Given the description of an element on the screen output the (x, y) to click on. 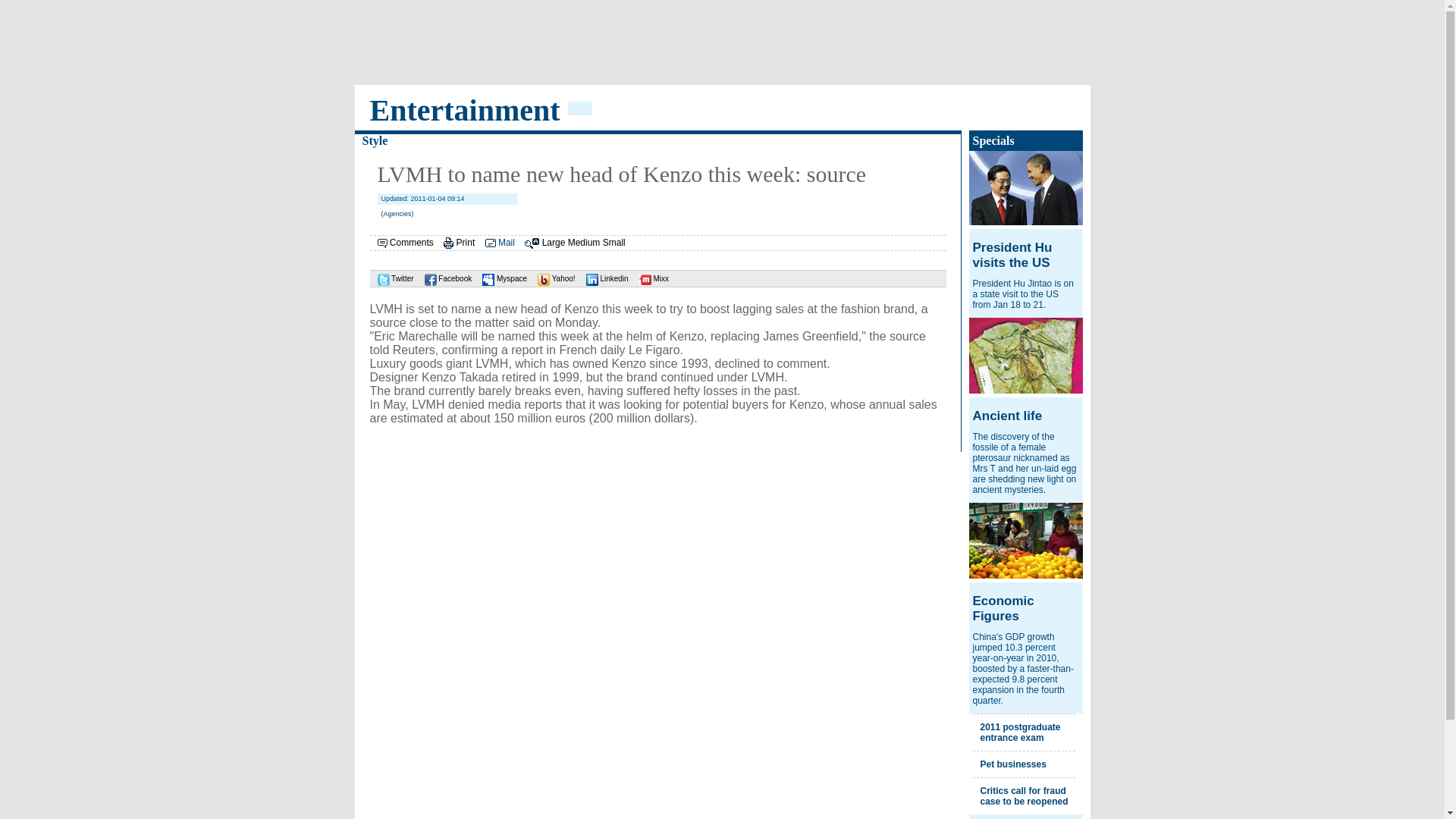
Large (553, 242)
Print (466, 242)
Twitter (391, 278)
Ancient life (1007, 415)
2011 postgraduate entrance exam (1019, 731)
Share to Twitter (391, 278)
Share to Linkedin (603, 278)
Small (614, 242)
Economic Figures (1002, 608)
